Given the description of an element on the screen output the (x, y) to click on. 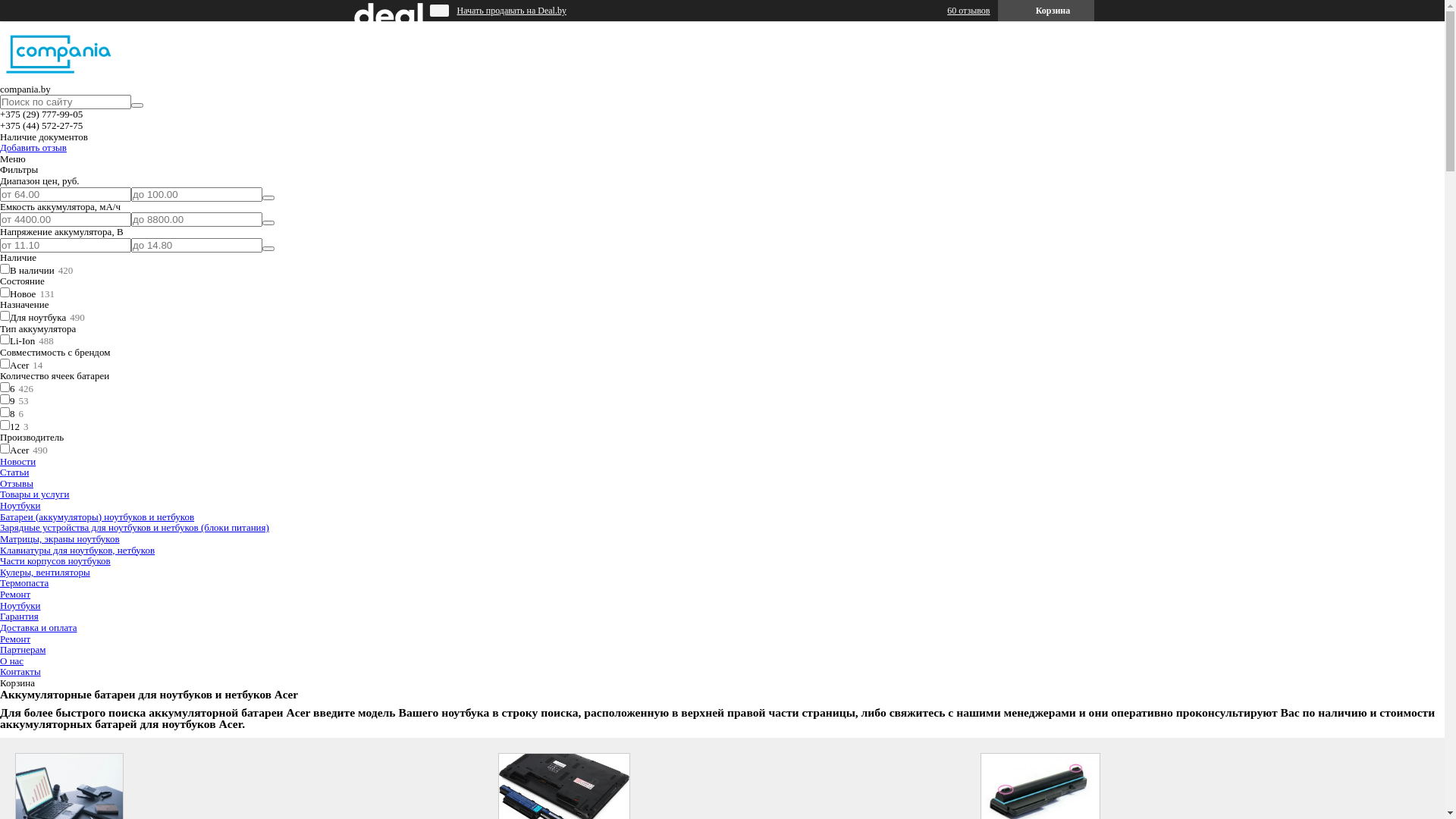
compania.by Element type: hover (59, 77)
